Given the description of an element on the screen output the (x, y) to click on. 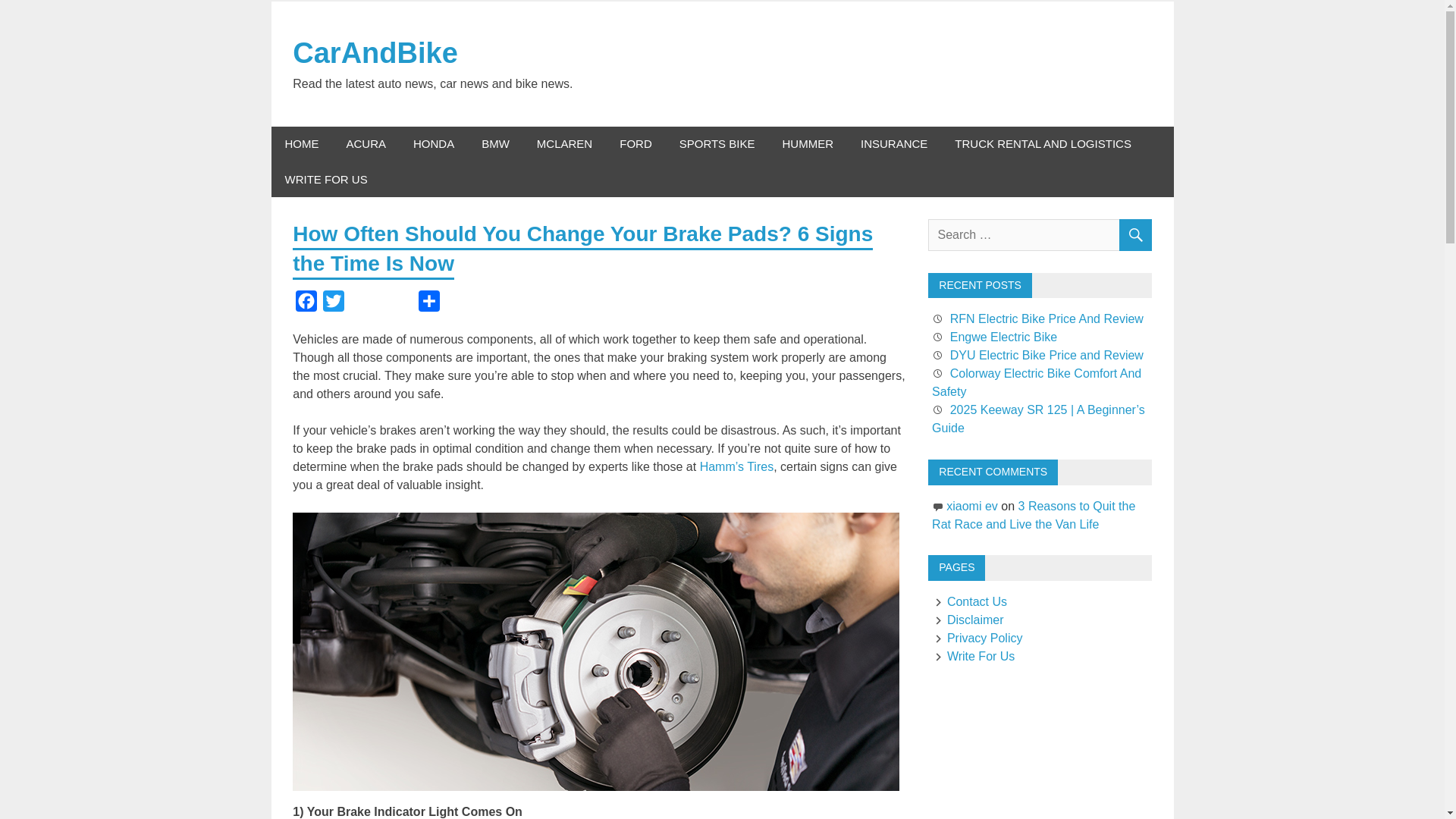
INSURANCE (893, 144)
Colorway Electric Bike Comfort And Safety (1036, 382)
Share (428, 304)
Write For Us (972, 656)
Engwe Electric Bike (1003, 336)
3 Reasons to Quit the Rat Race and Live the Van Life (1033, 514)
Disclaimer (967, 619)
BMW (494, 144)
SPORTS BIKE (716, 144)
Twitter (333, 304)
RFN Electric Bike Price And Review (1046, 318)
MCLAREN (563, 144)
Twitter (333, 304)
ACURA (364, 144)
HOME (301, 144)
